Given the description of an element on the screen output the (x, y) to click on. 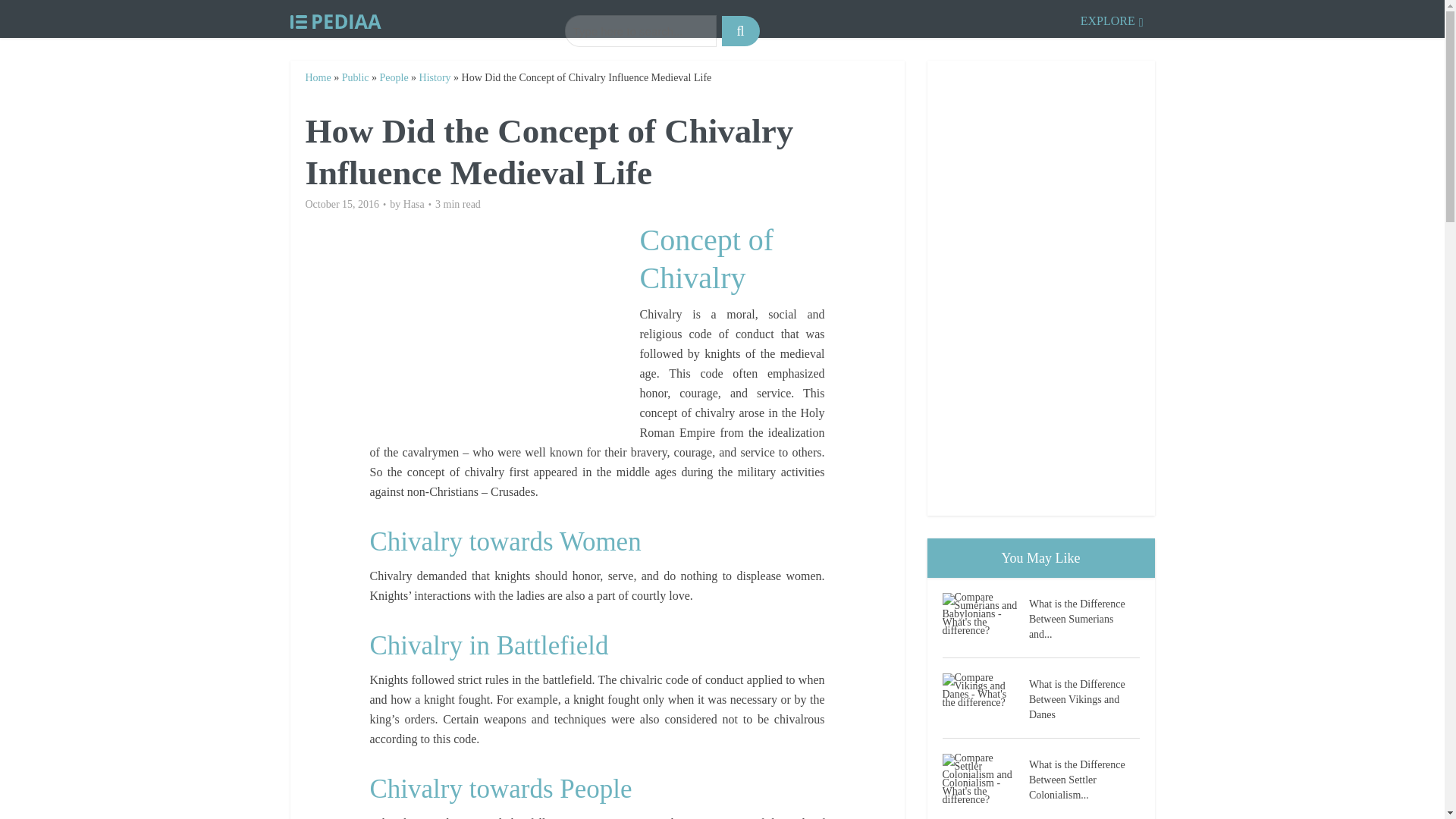
What is the Difference Between Sumerians and... (1084, 617)
What is the Difference Between Vikings and Danes (1084, 697)
Type here to search... (640, 30)
EXPLORE (1111, 18)
Home (317, 77)
What is the Difference Between Sumerians and Babylonians (984, 613)
What is the Difference Between Sumerians and Babylonians (1084, 617)
Public (355, 77)
